Given the description of an element on the screen output the (x, y) to click on. 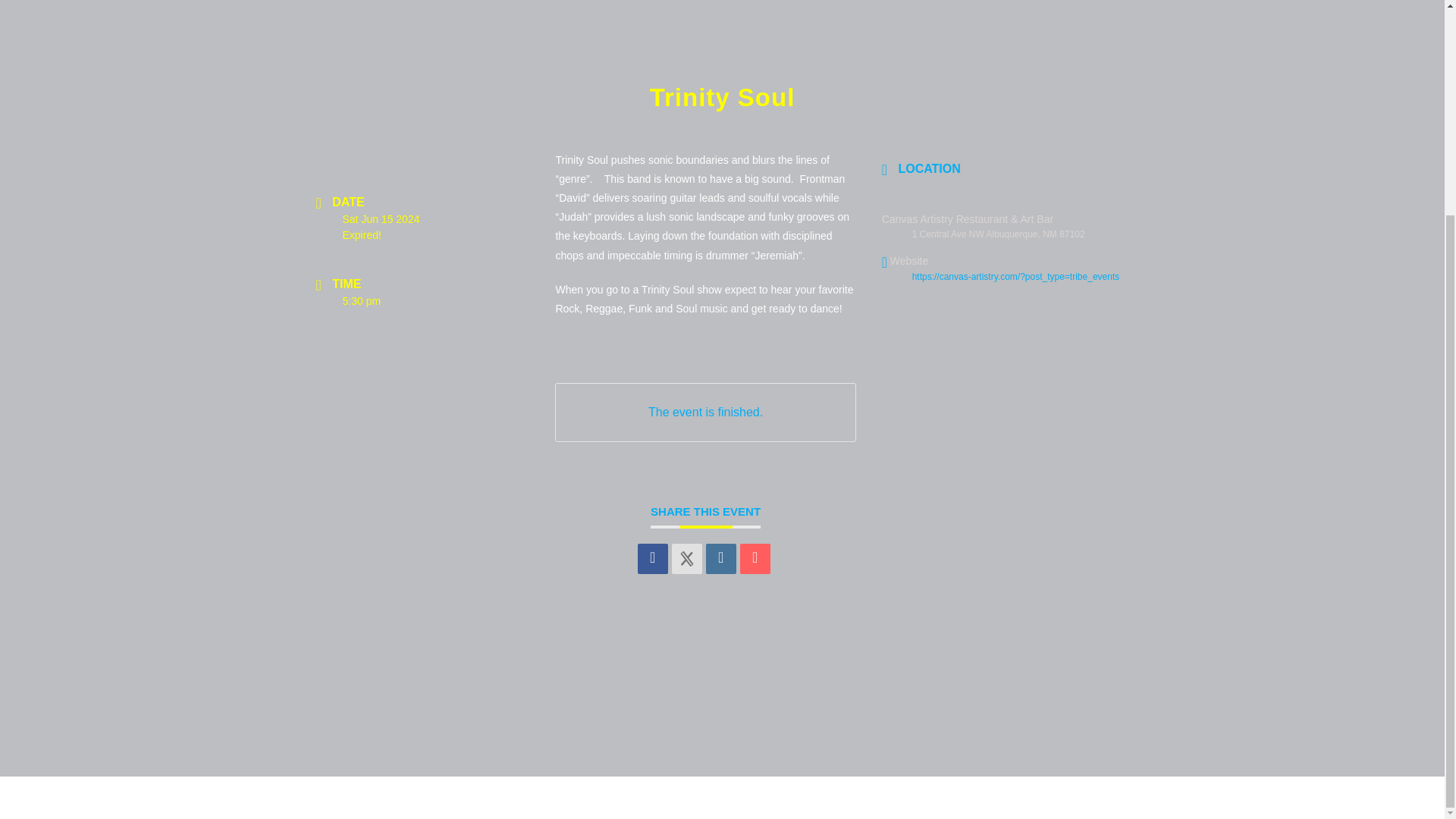
Share on Facebook (652, 558)
Email (754, 558)
X Social Network (686, 558)
Linkedin (721, 558)
